Given the description of an element on the screen output the (x, y) to click on. 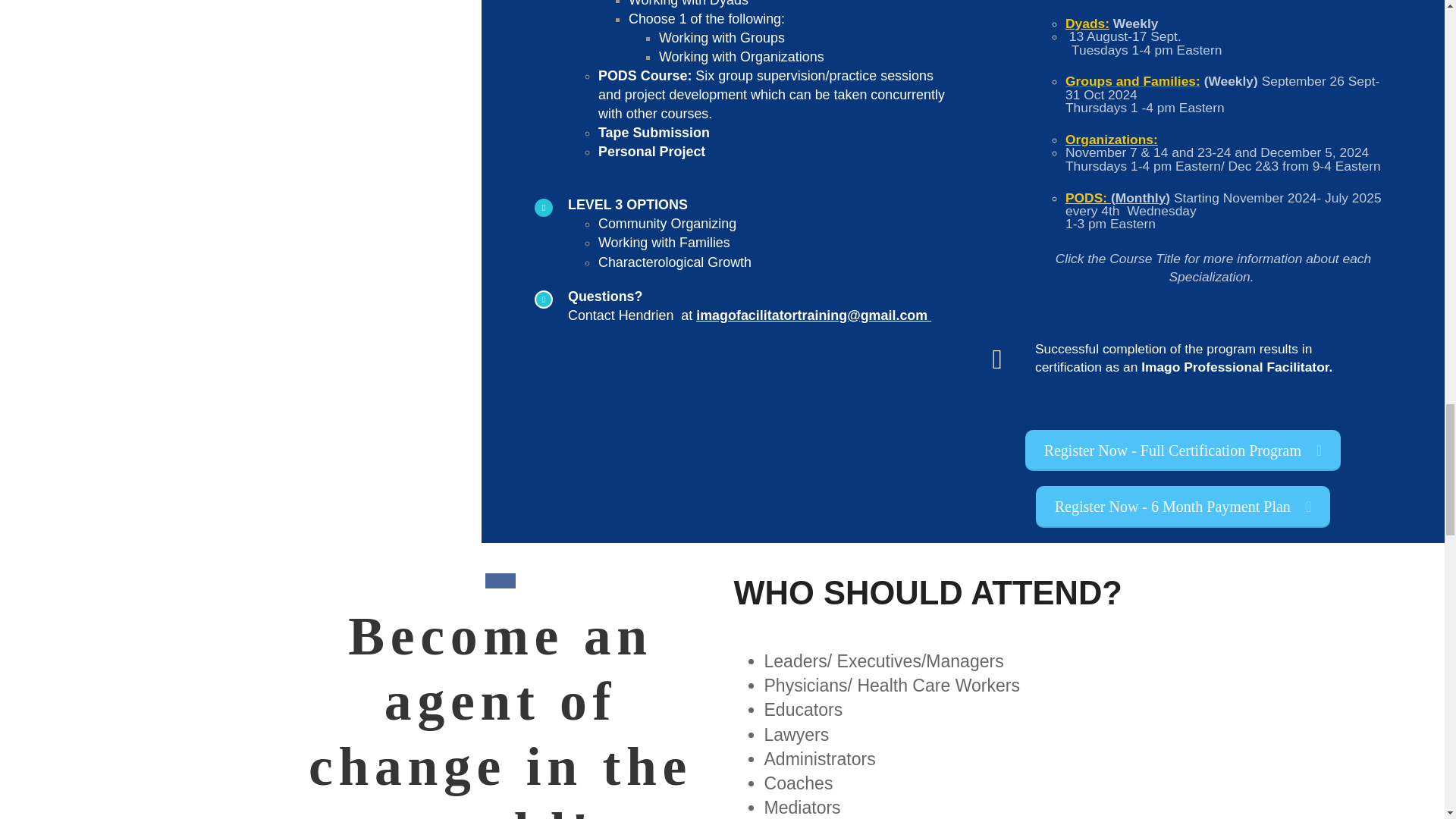
Register Now - Full Certification Program (1182, 450)
PODS: (1085, 196)
Organizations: (1111, 139)
Dyads: (1087, 23)
Groups and Families: (1132, 80)
Register Now - 6 Month Payment Plan (1182, 506)
